Given the description of an element on the screen output the (x, y) to click on. 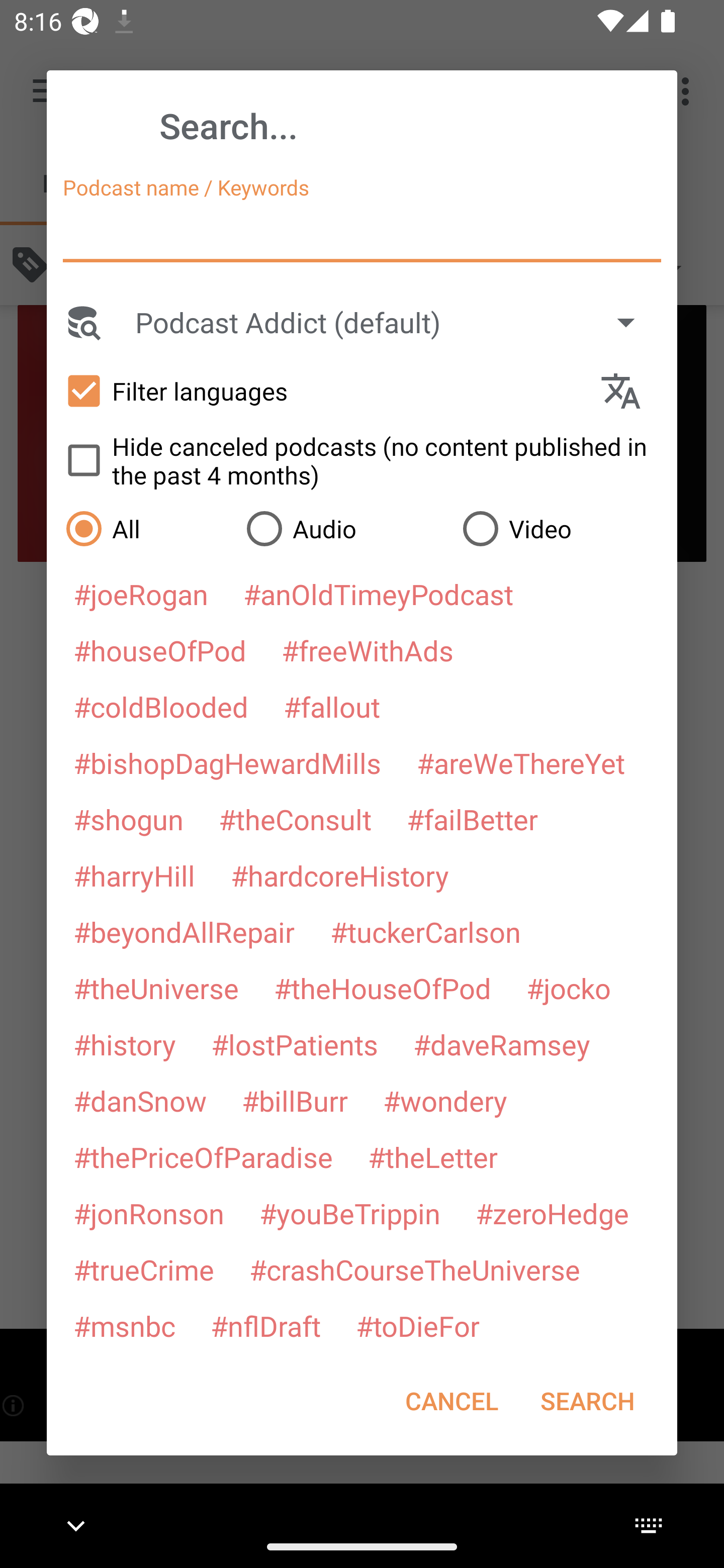
Podcast name / Keywords (361, 234)
Search Engine (82, 322)
Podcast Addict (default) (394, 322)
Languages selection (629, 390)
Filter languages (322, 390)
All (145, 528)
Audio (344, 528)
Video (560, 528)
#joeRogan (140, 594)
#anOldTimeyPodcast (378, 594)
#houseOfPod (159, 650)
#freeWithAds (367, 650)
#coldBlooded (160, 705)
#fallout (331, 705)
#bishopDagHewardMills (227, 762)
#areWeThereYet (521, 762)
#shogun (128, 818)
#theConsult (294, 818)
#failBetter (471, 818)
#harryHill (134, 875)
#hardcoreHistory (339, 875)
#beyondAllRepair (184, 931)
#tuckerCarlson (425, 931)
#theUniverse (155, 987)
#theHouseOfPod (381, 987)
#jocko (568, 987)
#history (124, 1044)
#lostPatients (294, 1044)
#daveRamsey (501, 1044)
#danSnow (139, 1100)
#billBurr (294, 1100)
#wondery (444, 1100)
#thePriceOfParadise (203, 1157)
#theLetter (432, 1157)
#jonRonson (148, 1213)
#youBeTrippin (349, 1213)
#zeroHedge (552, 1213)
#trueCrime (143, 1268)
#crashCourseTheUniverse (414, 1268)
#msnbc (124, 1325)
#nflDraft (265, 1325)
#toDieFor (417, 1325)
CANCEL (451, 1400)
SEARCH (587, 1400)
